Given the description of an element on the screen output the (x, y) to click on. 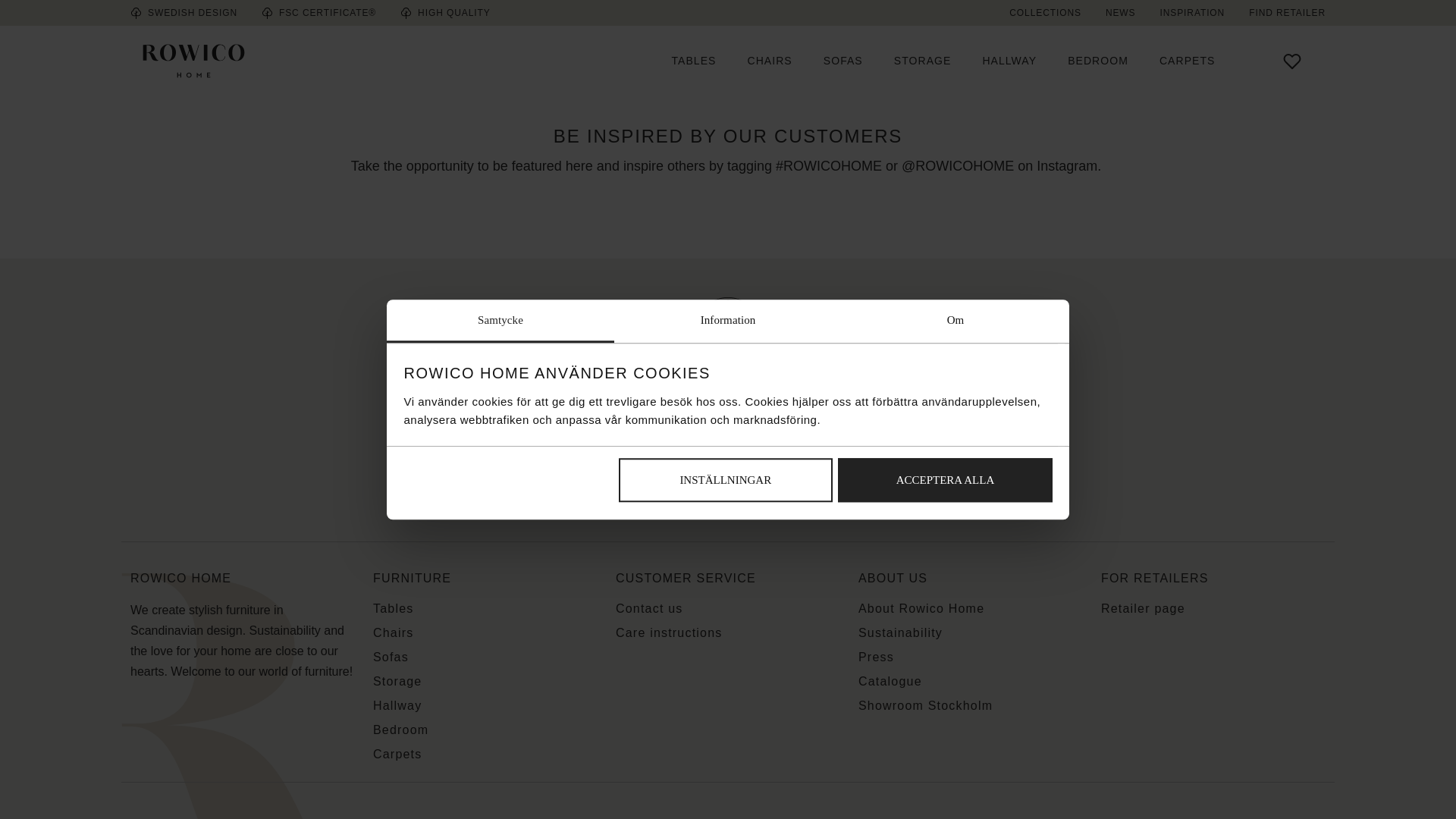
Scroll to top (727, 363)
